Given the description of an element on the screen output the (x, y) to click on. 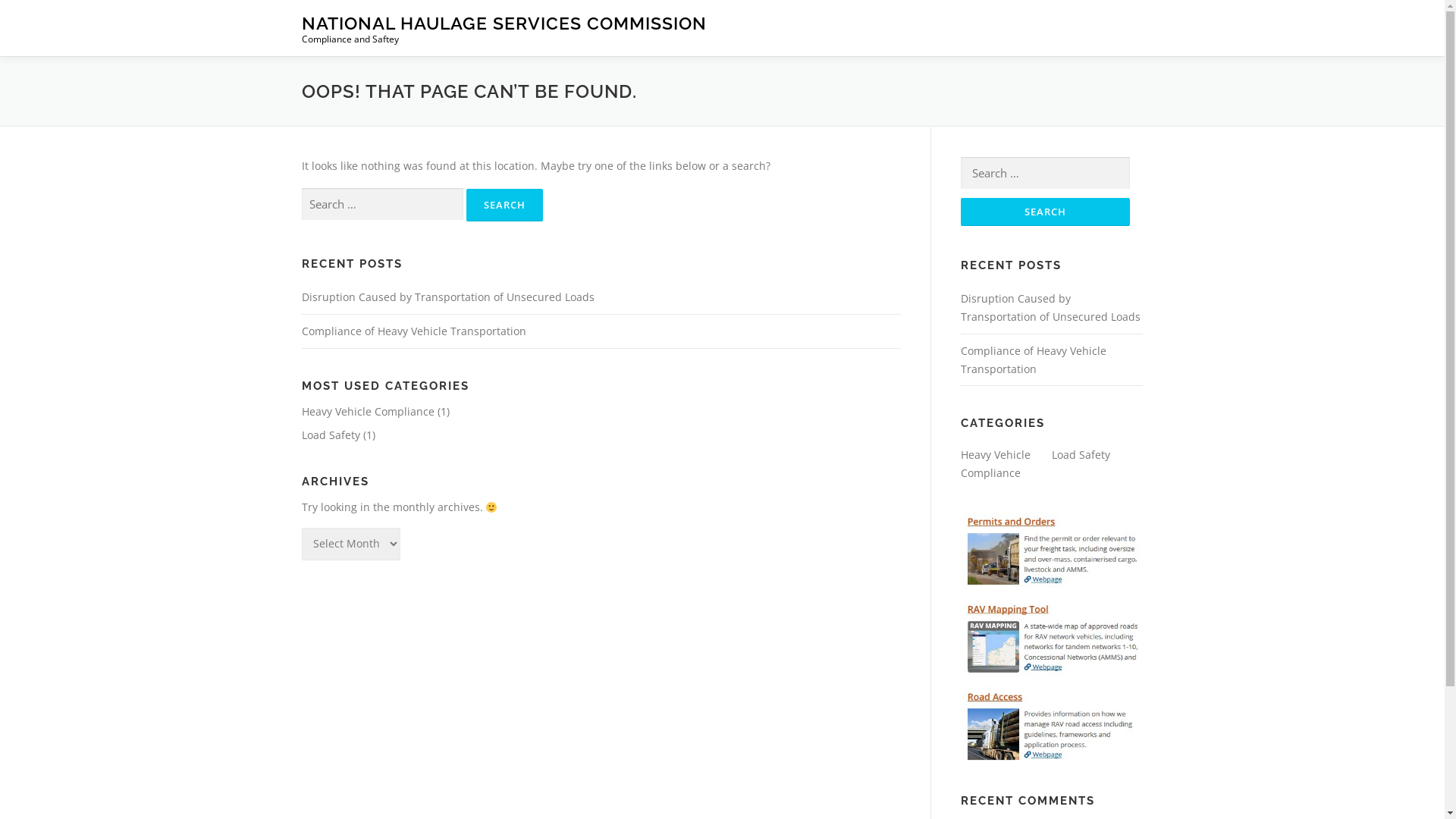
Search Element type: text (1044, 211)
Heavy Vehicle Compliance Element type: text (367, 411)
Compliance of Heavy Vehicle Transportation Element type: text (1032, 359)
Skip to content Element type: text (37, 9)
NATIONAL HAULAGE SERVICES COMMISSION Element type: text (503, 22)
Load Safety Element type: text (1080, 454)
Heavy Vehicle Compliance Element type: text (994, 463)
Disruption Caused by Transportation of Unsecured Loads Element type: text (447, 296)
Compliance of Heavy Vehicle Transportation Element type: text (413, 330)
Search Element type: text (503, 204)
Disruption Caused by Transportation of Unsecured Loads Element type: text (1049, 307)
Load Safety Element type: text (330, 434)
